Given the description of an element on the screen output the (x, y) to click on. 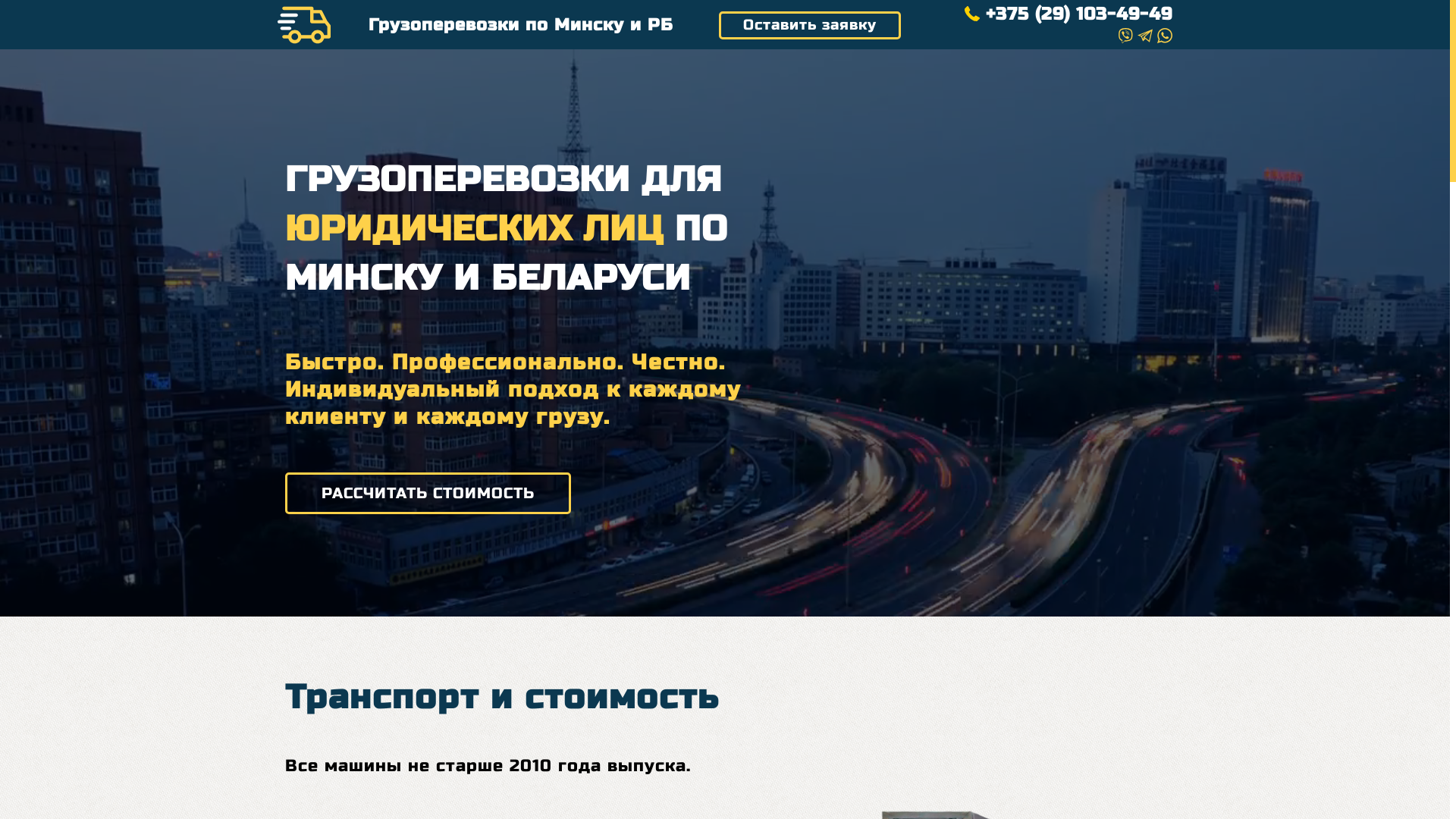
+375 (29) 103-49-49 Element type: text (1068, 14)
